Given the description of an element on the screen output the (x, y) to click on. 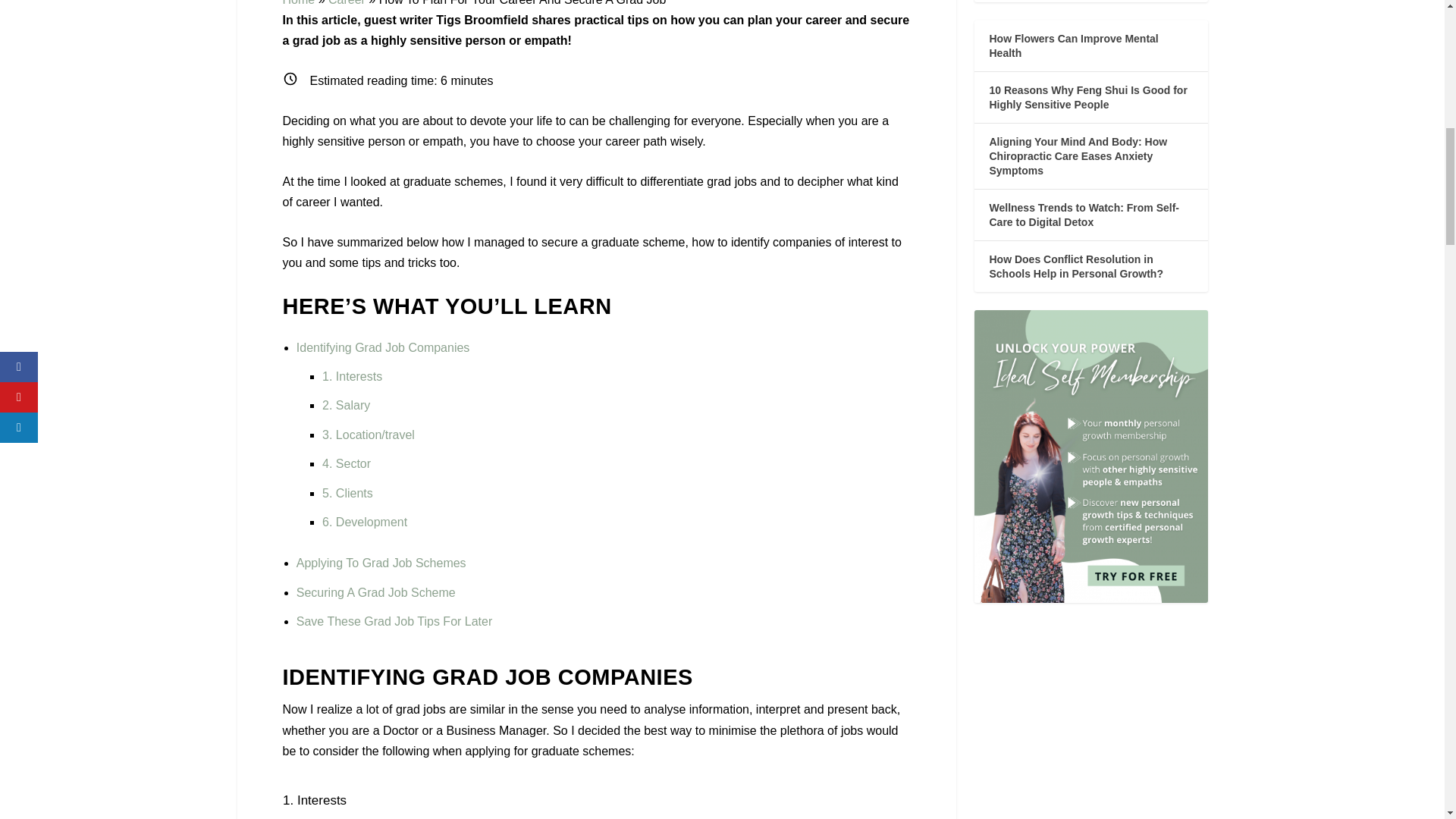
5. Clients (346, 492)
Securing A Grad Job Scheme (376, 592)
Home (298, 2)
6. Development (364, 521)
Applying To Grad Job Schemes (381, 562)
Identifying Grad Job Companies (383, 347)
Save These Grad Job Tips For Later (395, 621)
2. Salary (345, 404)
1. Interests (351, 376)
Career (347, 2)
4. Sector (346, 463)
